Given the description of an element on the screen output the (x, y) to click on. 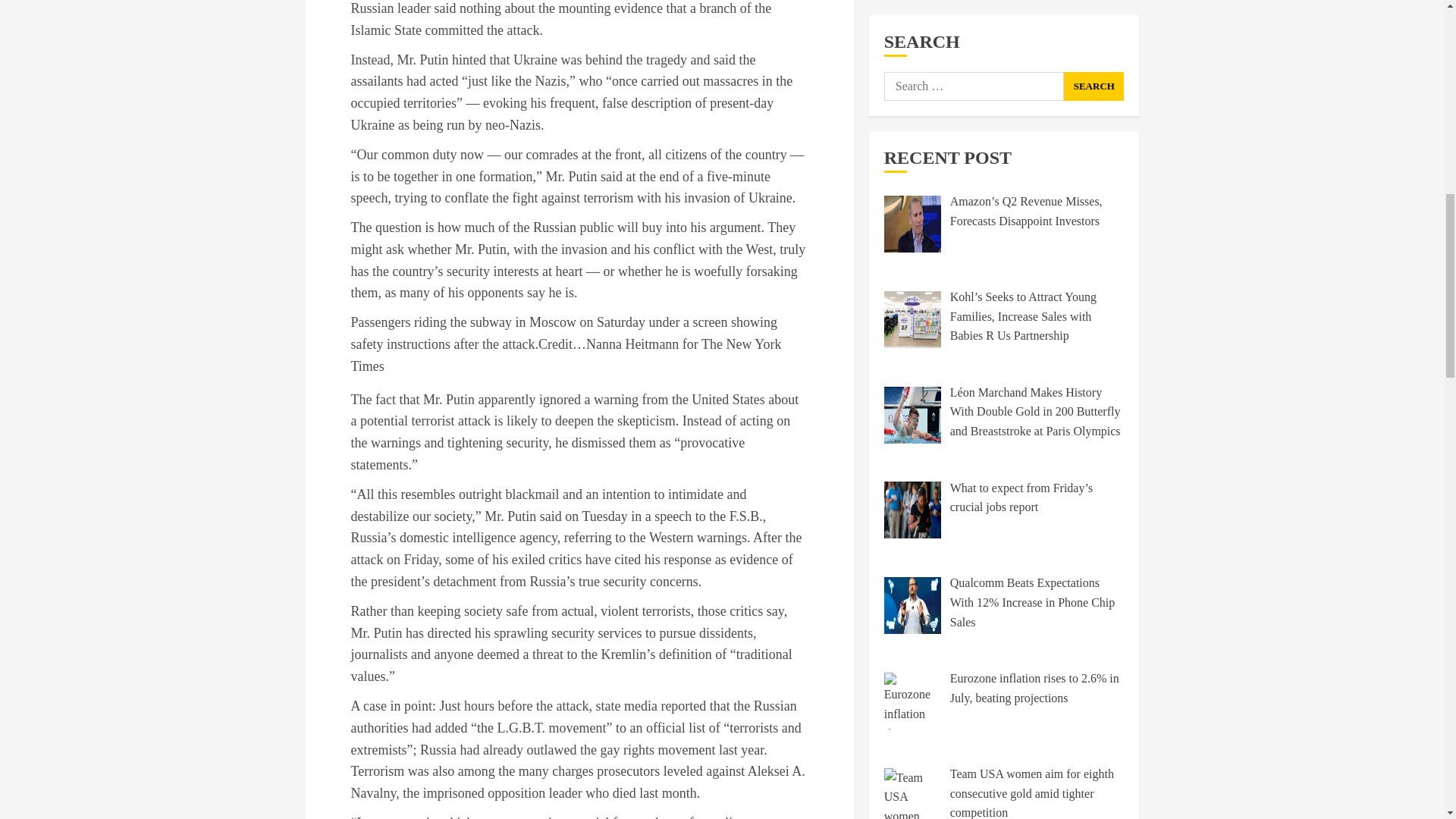
Legendary Father-Son Duos in Sports: A Legacy of Excellence (1026, 614)
